Given the description of an element on the screen output the (x, y) to click on. 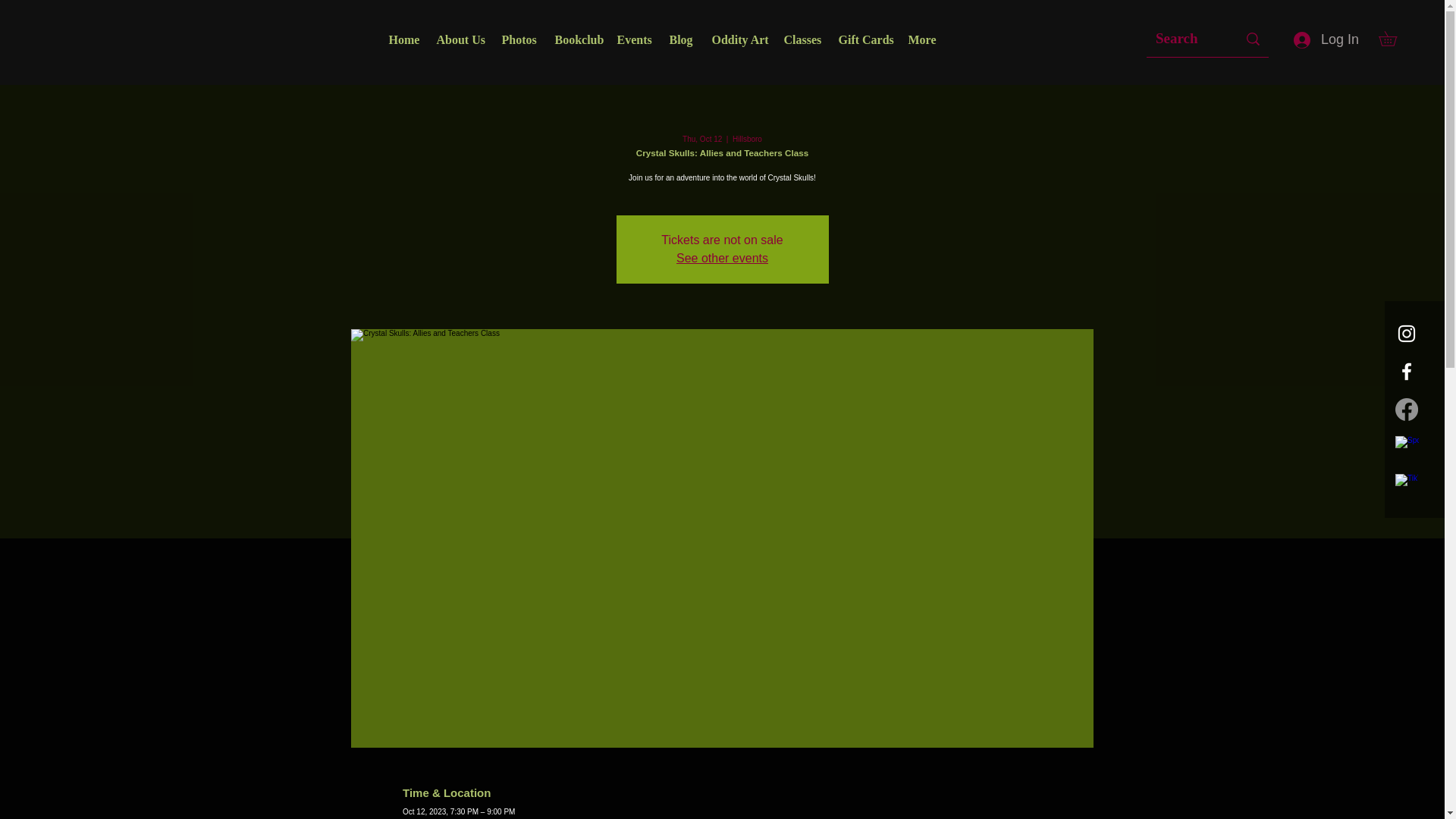
Oddity Art (736, 39)
About Us (457, 39)
See other events (722, 257)
Classes (799, 39)
Blog (679, 39)
Events (631, 39)
Home (401, 39)
Bookclub (574, 39)
Gift Cards (861, 39)
Photos (516, 39)
Log In (1326, 39)
